Given the description of an element on the screen output the (x, y) to click on. 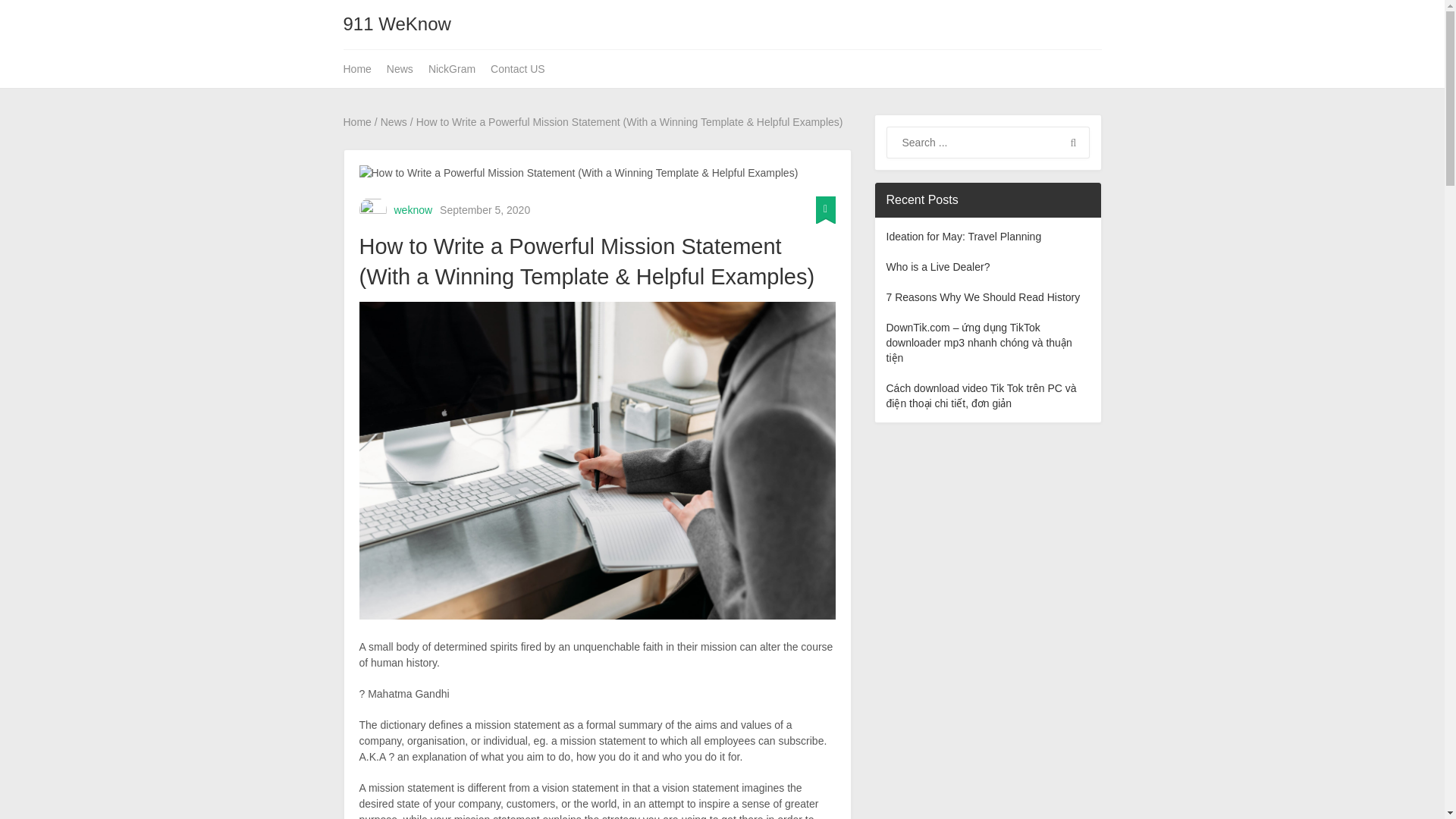
Home (360, 68)
News (393, 121)
Home (356, 121)
7 Reasons Why We Should Read History (982, 297)
NickGram (451, 68)
weknow (413, 209)
911 WeKnow (395, 24)
News (399, 68)
Who is a Live Dealer? (937, 266)
Posts by weknow (413, 209)
